Given the description of an element on the screen output the (x, y) to click on. 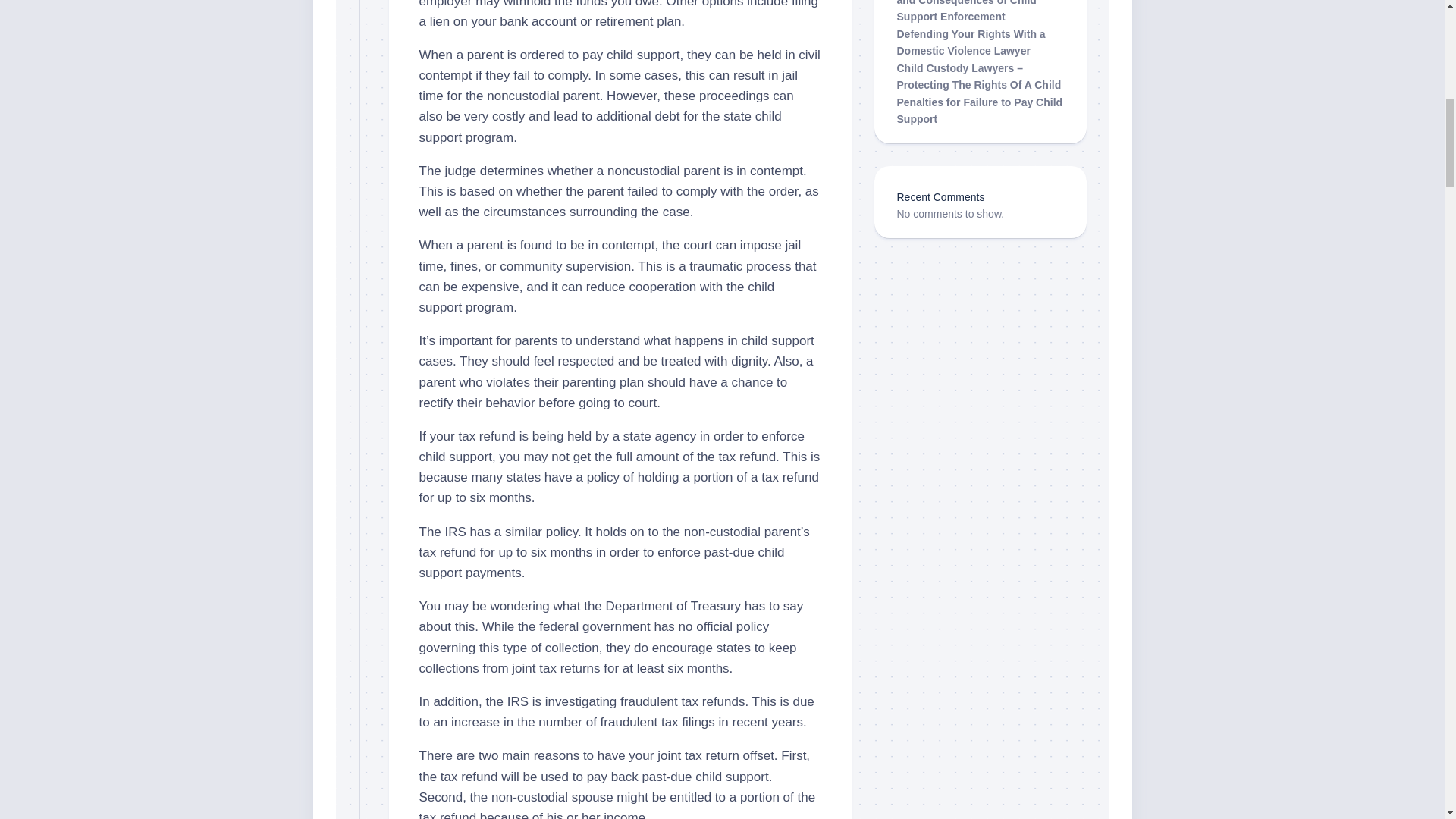
Defending Your Rights With a Domestic Violence Lawyer (970, 41)
Penalties for Failure to Pay Child Support (979, 110)
